Given the description of an element on the screen output the (x, y) to click on. 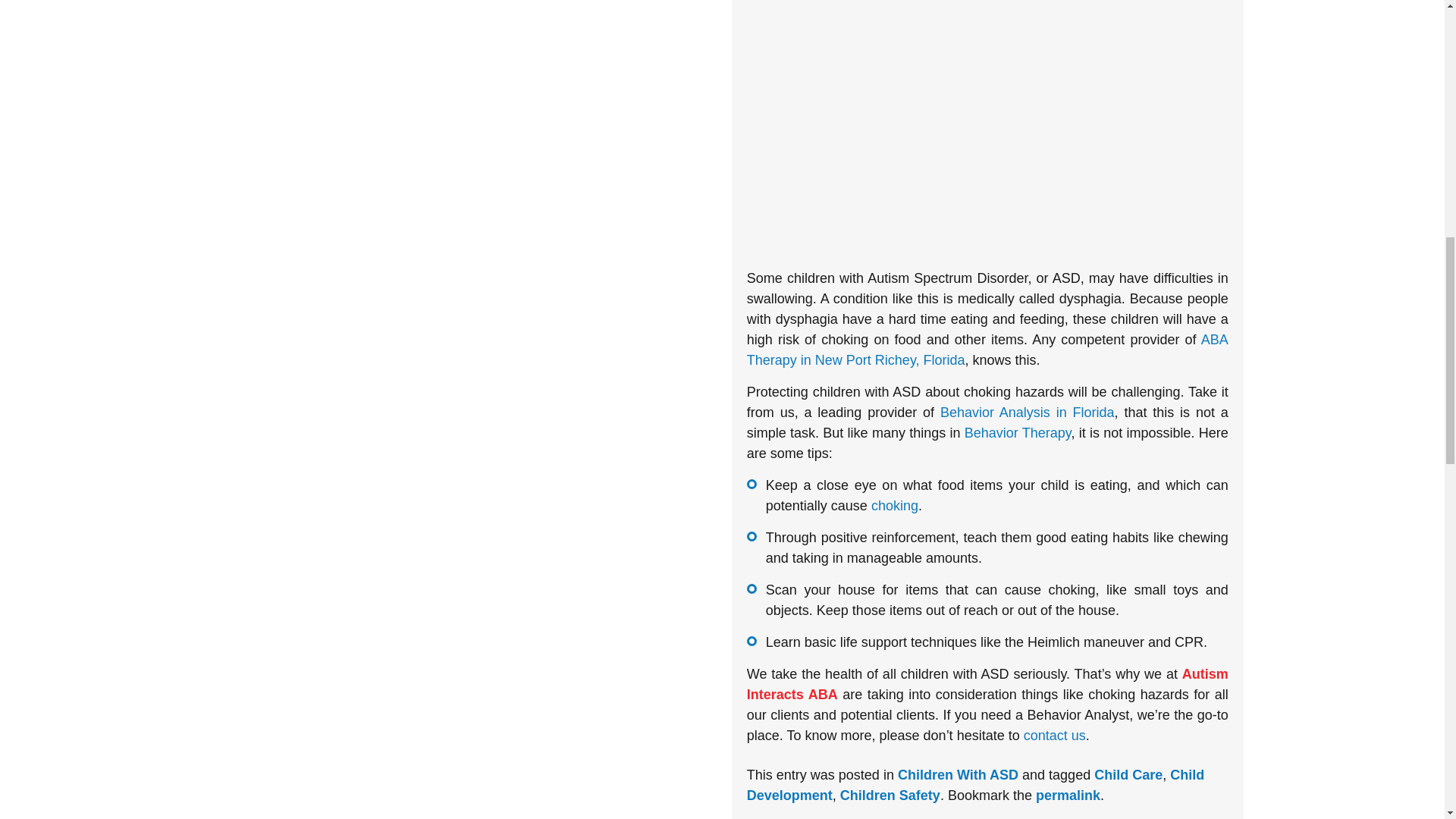
permalink (1067, 795)
Children Safety (890, 795)
choking (894, 505)
Child Development (975, 785)
Behavior Therapy (1017, 432)
Child Care (1127, 774)
ABA Therapy in New Port Richey, Florida (987, 349)
Behavior Analysis in Florida (1027, 412)
contact us (1054, 735)
